Given the description of an element on the screen output the (x, y) to click on. 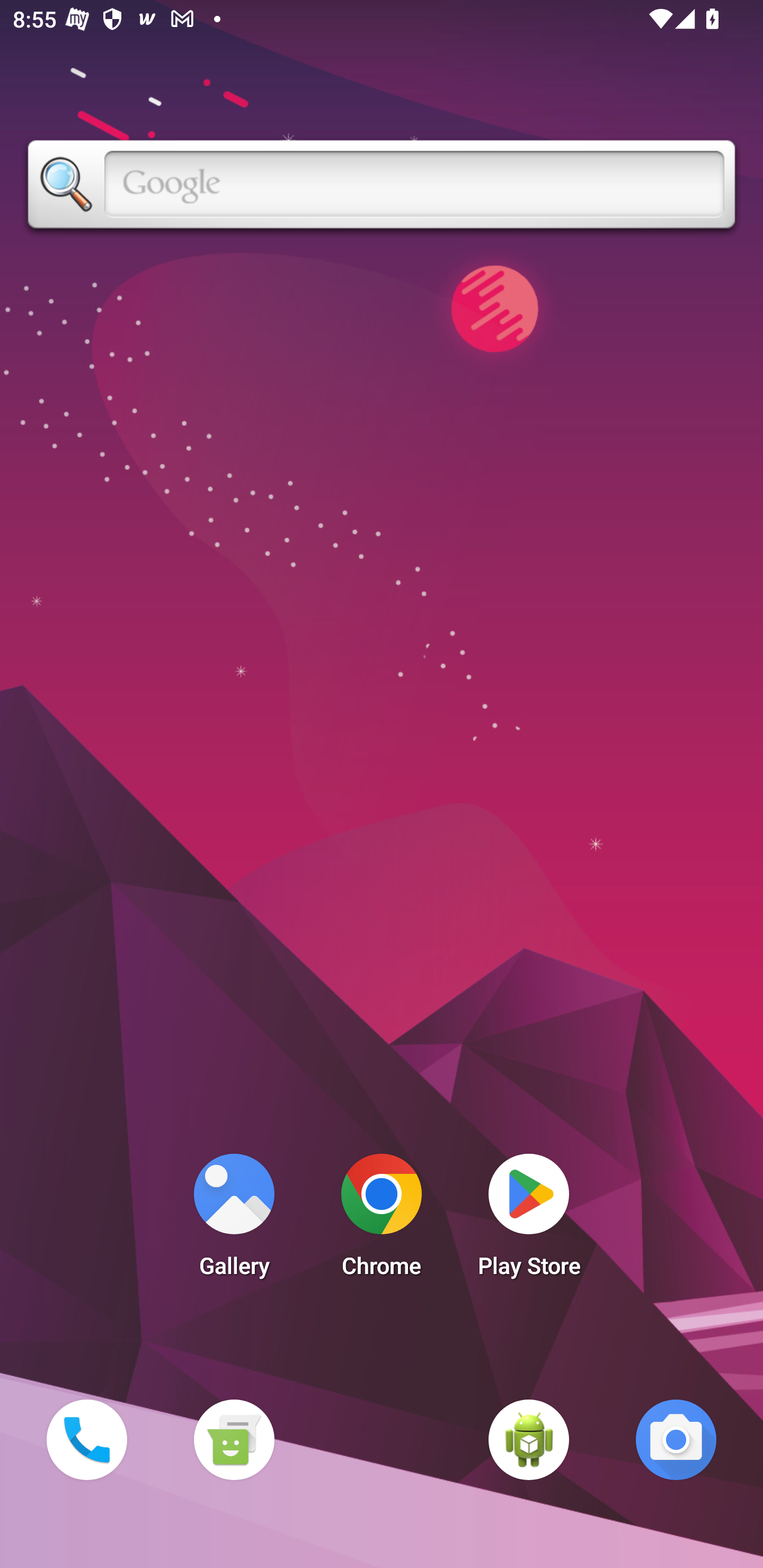
Gallery (233, 1220)
Chrome (381, 1220)
Play Store (528, 1220)
Phone (86, 1439)
Messaging (233, 1439)
WebView Browser Tester (528, 1439)
Camera (676, 1439)
